Given the description of an element on the screen output the (x, y) to click on. 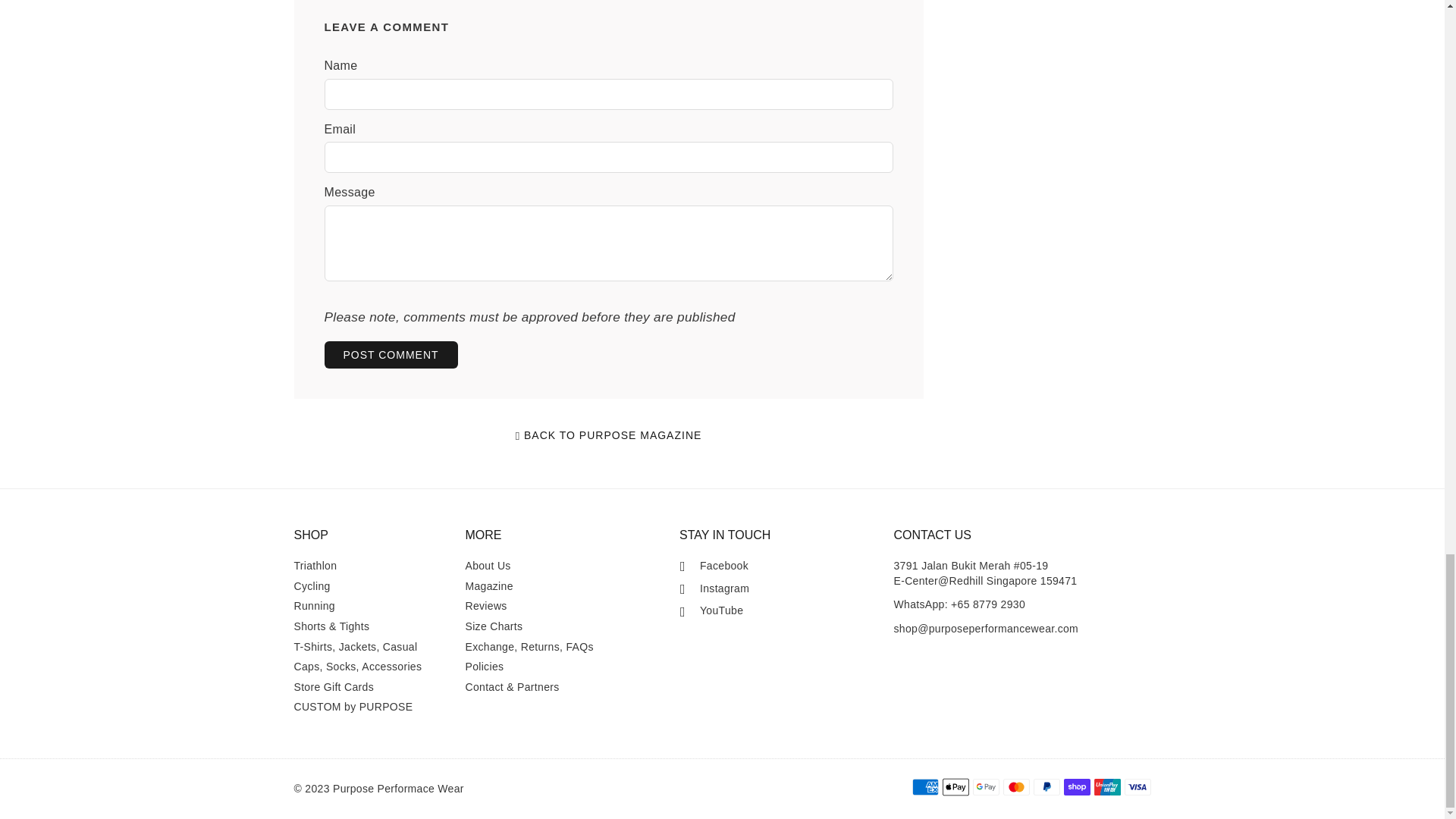
Google Pay (985, 787)
PayPal (1045, 787)
Post comment (391, 354)
Mastercard (1016, 787)
Union Pay (1106, 787)
Purpose Performance Wear on YouTube (711, 611)
American Express (924, 787)
Shop Pay (1075, 787)
Apple Pay (955, 787)
Purpose Performance Wear on Instagram (714, 589)
